Given the description of an element on the screen output the (x, y) to click on. 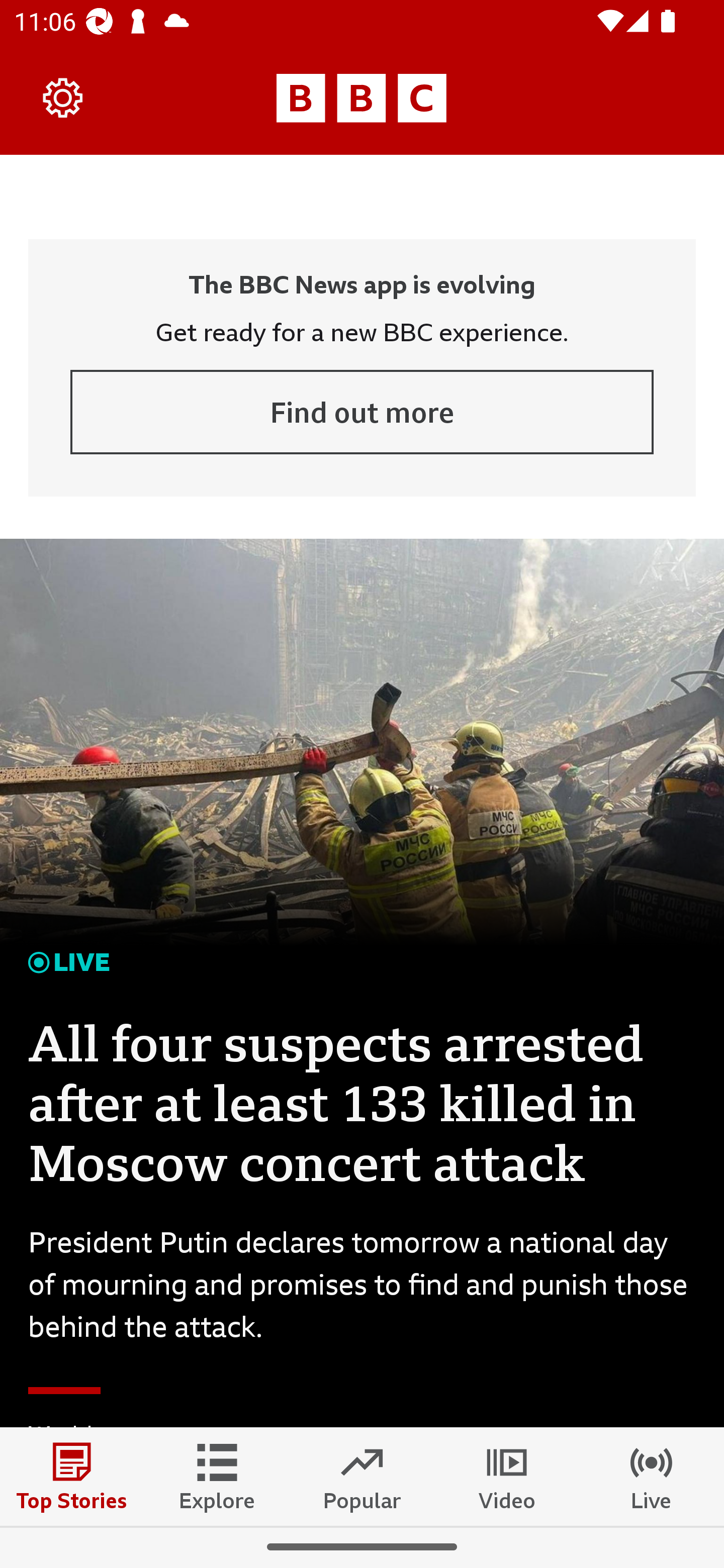
Settings (63, 97)
Find out more (361, 412)
Explore (216, 1475)
Popular (361, 1475)
Video (506, 1475)
Live (651, 1475)
